Given the description of an element on the screen output the (x, y) to click on. 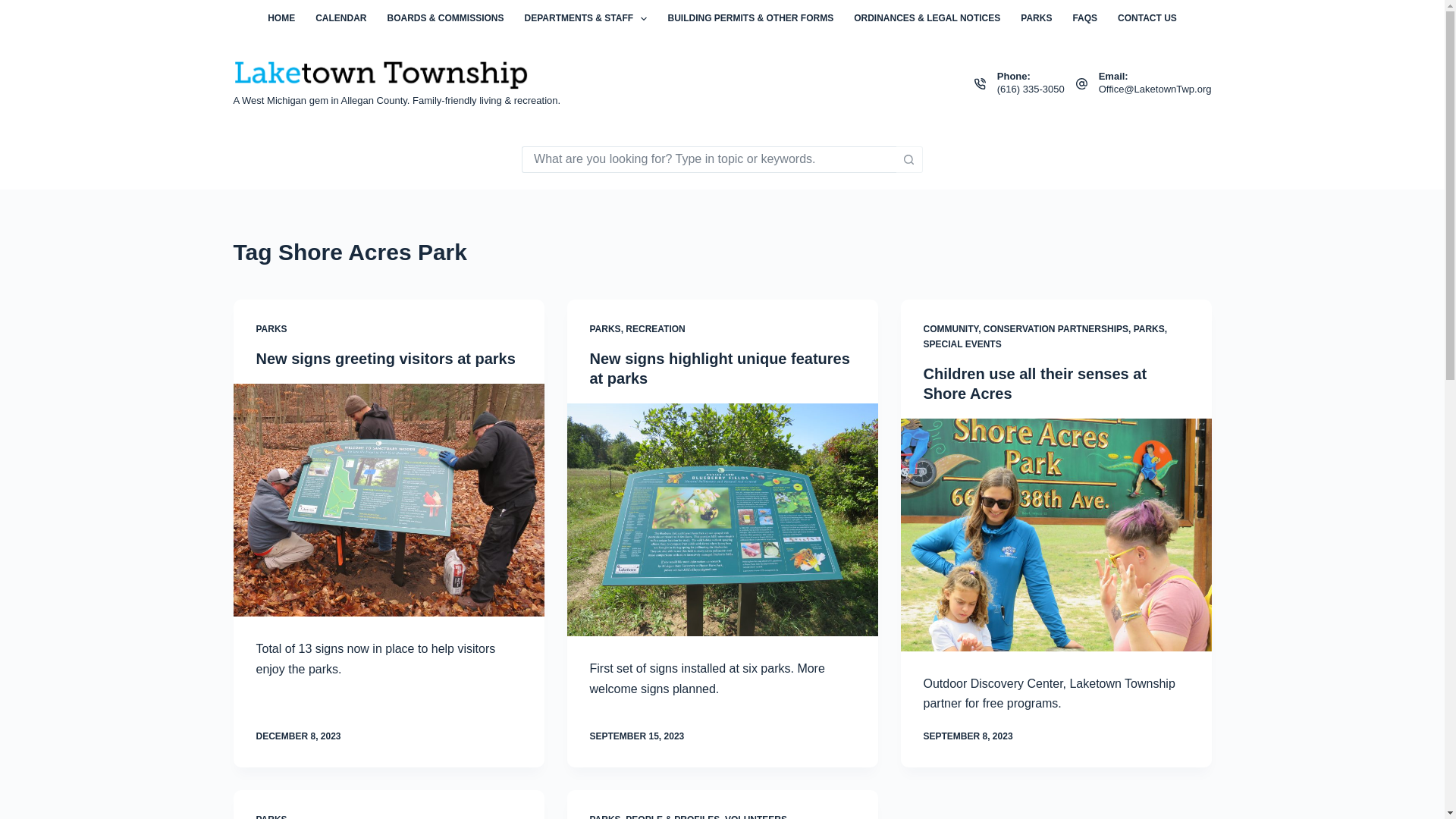
HOME (281, 18)
FAQS (1085, 18)
Skip to content (15, 7)
PARKS (1036, 18)
CALENDAR (341, 18)
CONTACT US (1148, 18)
Tag Shore Acres Park (721, 252)
Search for... (708, 158)
